Given the description of an element on the screen output the (x, y) to click on. 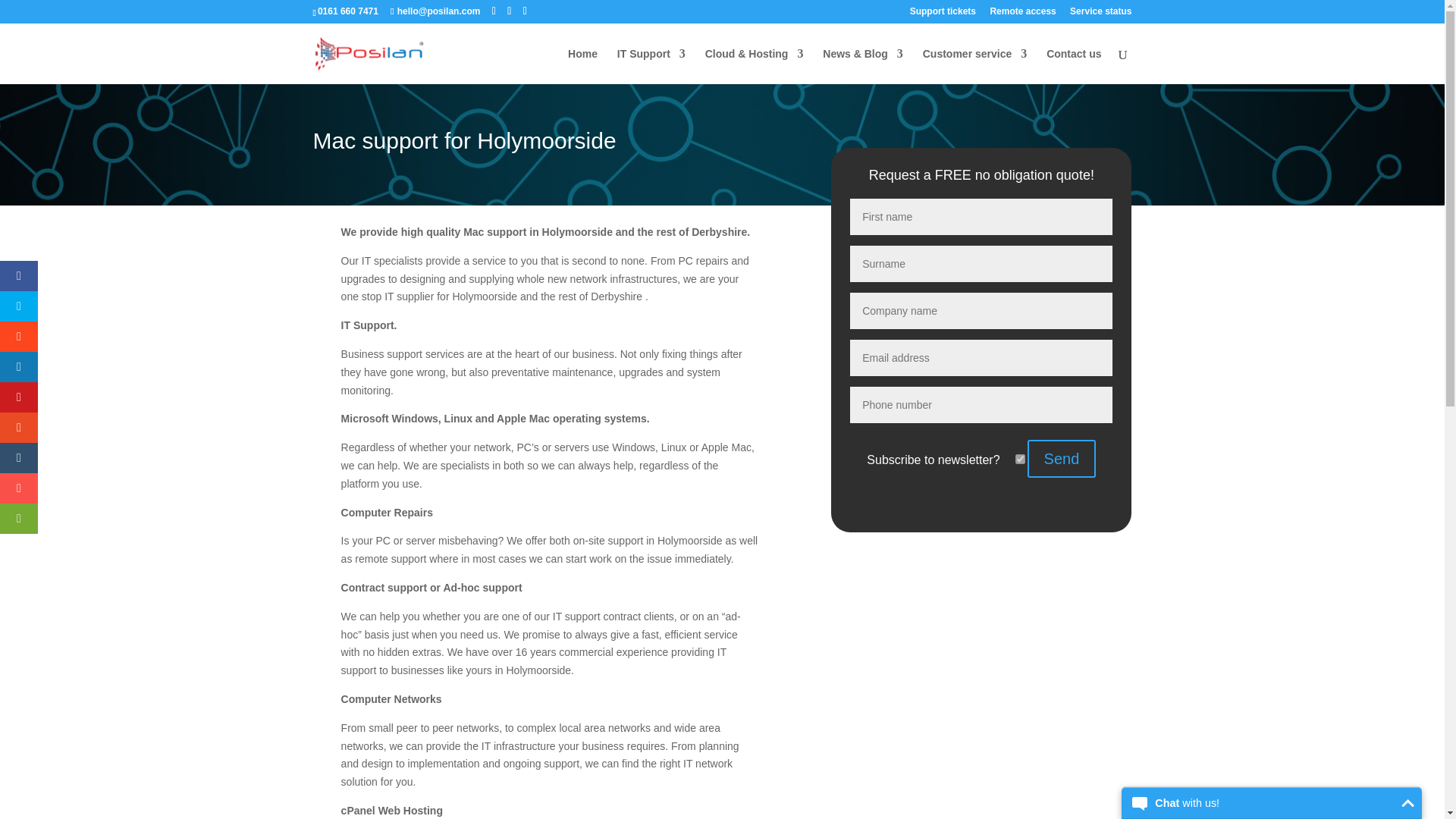
Service status (1100, 14)
Support tickets (942, 14)
Customer service (975, 66)
IT Support (651, 66)
Home (581, 66)
Send (1061, 458)
Remote access (1022, 14)
